Given the description of an element on the screen output the (x, y) to click on. 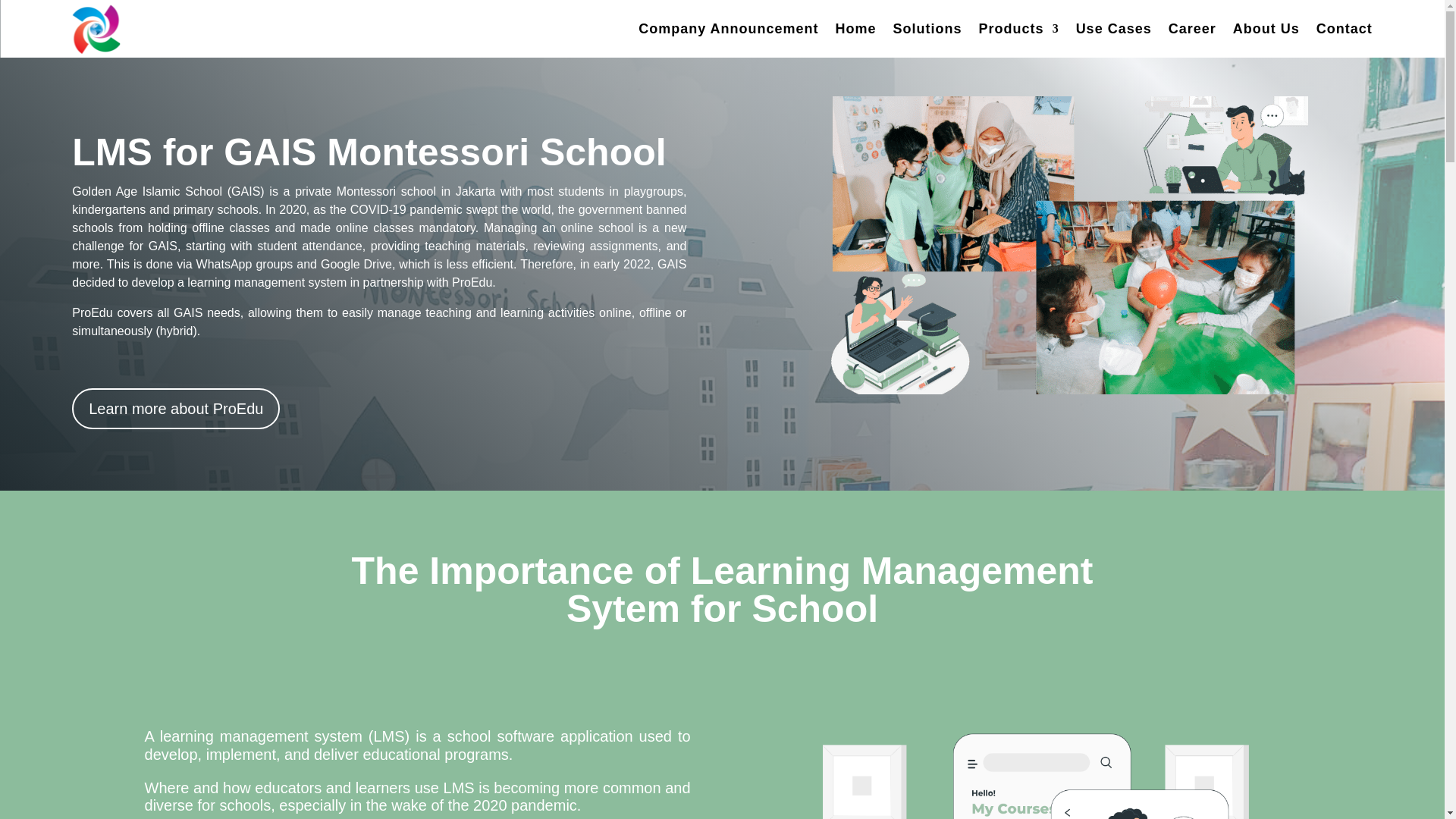
Use Cases (1113, 28)
About Us (1266, 28)
Company Announcement (728, 28)
Products (1018, 28)
Solutions (927, 28)
Learn more about ProEdu (175, 408)
Contact (1344, 28)
